Given the description of an element on the screen output the (x, y) to click on. 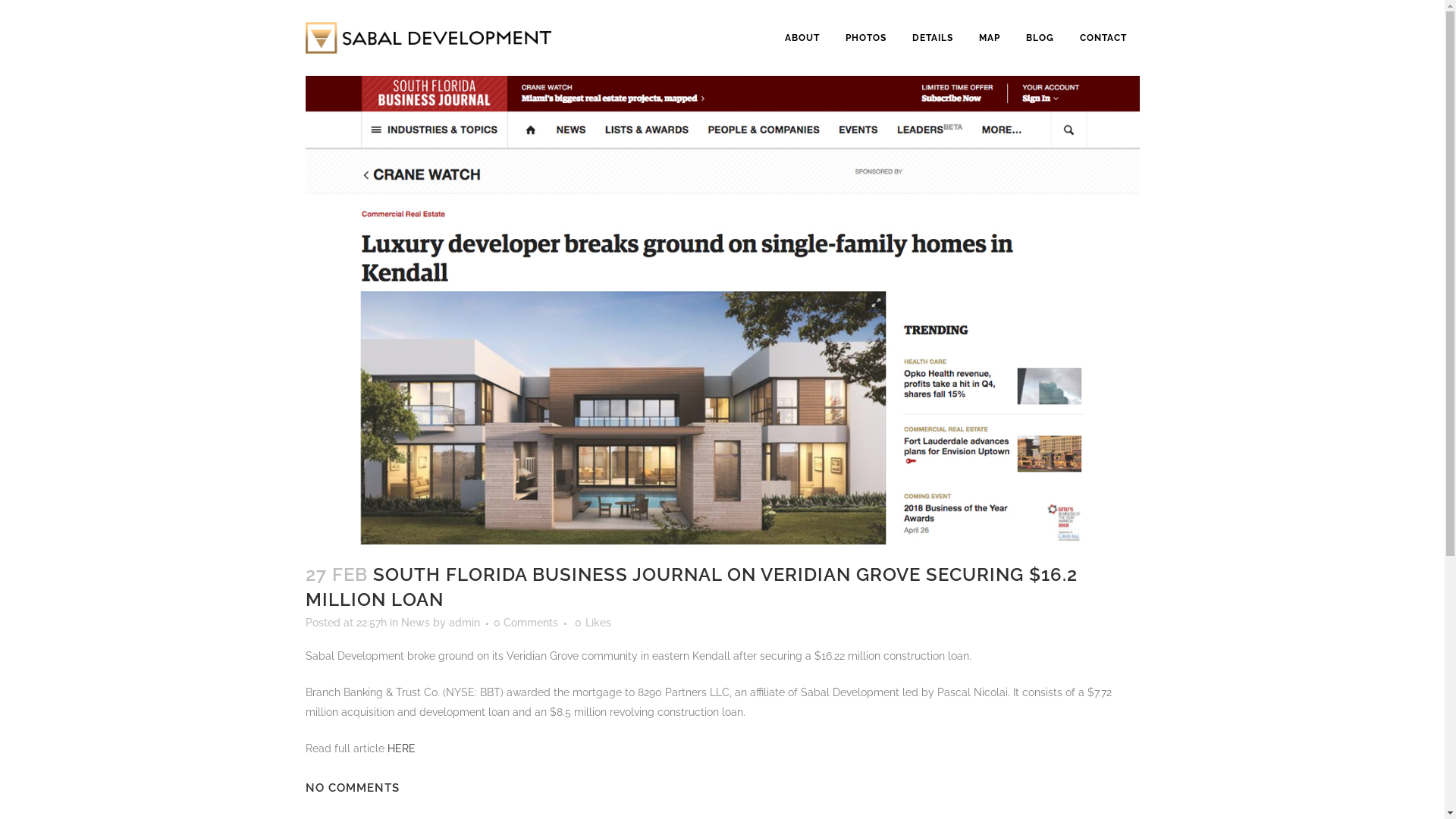
admin Element type: text (464, 622)
0 Likes Element type: text (592, 622)
DETAILS Element type: text (932, 37)
MAP Element type: text (989, 37)
HERE Element type: text (400, 748)
PHOTOS Element type: text (865, 37)
BLOG Element type: text (1039, 37)
News Element type: text (414, 622)
0 Comments Element type: text (524, 622)
CONTACT Element type: text (1102, 37)
ABOUT Element type: text (801, 37)
